Given the description of an element on the screen output the (x, y) to click on. 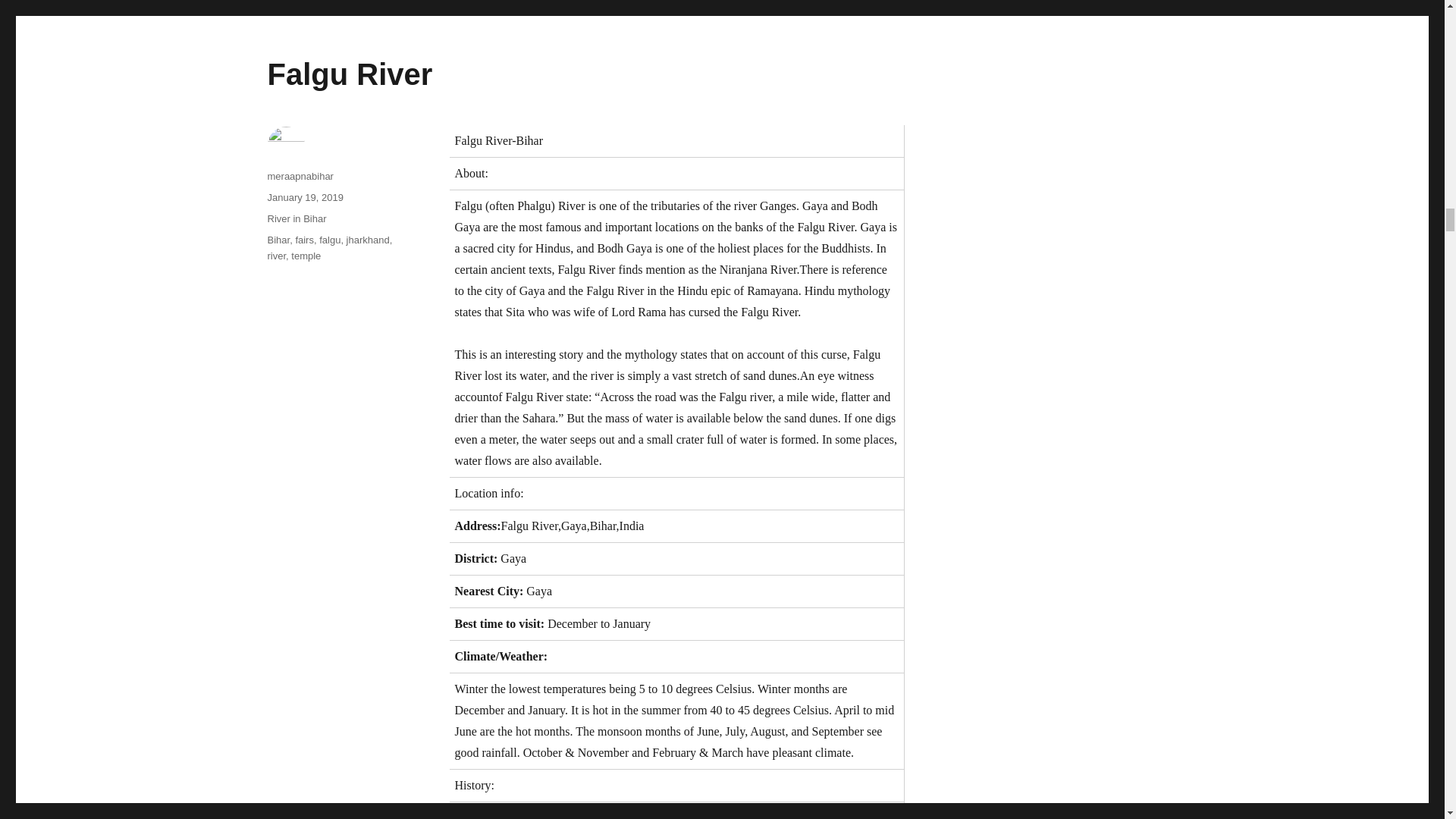
River in Bihar (296, 218)
river (275, 255)
falgu (329, 239)
jharkhand (368, 239)
temple (305, 255)
fairs (304, 239)
Falgu River (349, 73)
Bihar (277, 239)
January 19, 2019 (304, 197)
meraapnabihar (299, 175)
